Given the description of an element on the screen output the (x, y) to click on. 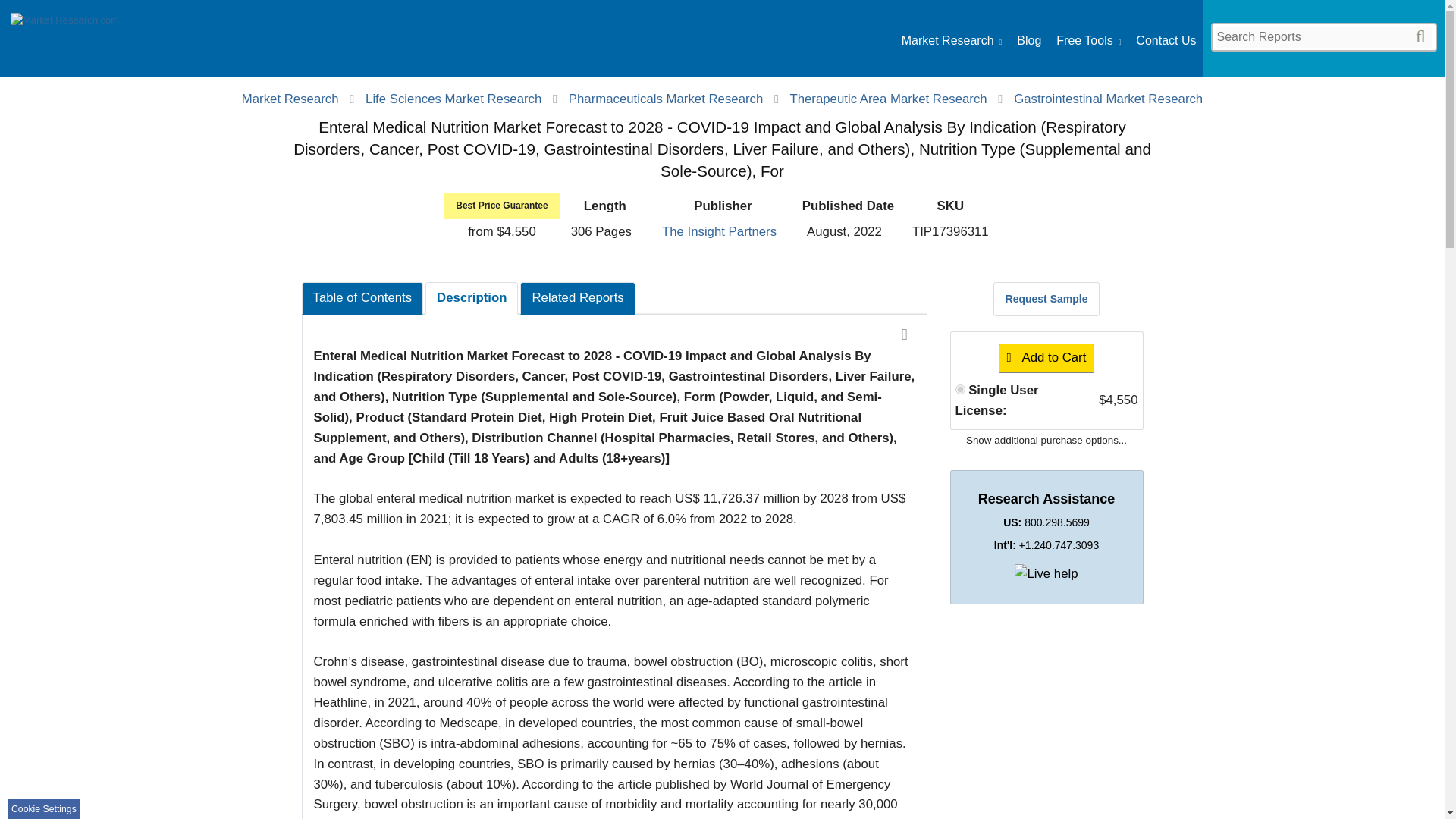
Browse Market Research Industries (951, 40)
Market Research (290, 98)
Free Tools (1089, 40)
Market Research (64, 42)
The Insight Partners (719, 231)
32251704 (960, 388)
Related Reports (576, 297)
Request Sample (1046, 298)
Therapeutic Area Market Research (888, 98)
Contact Us (1165, 40)
